Given the description of an element on the screen output the (x, y) to click on. 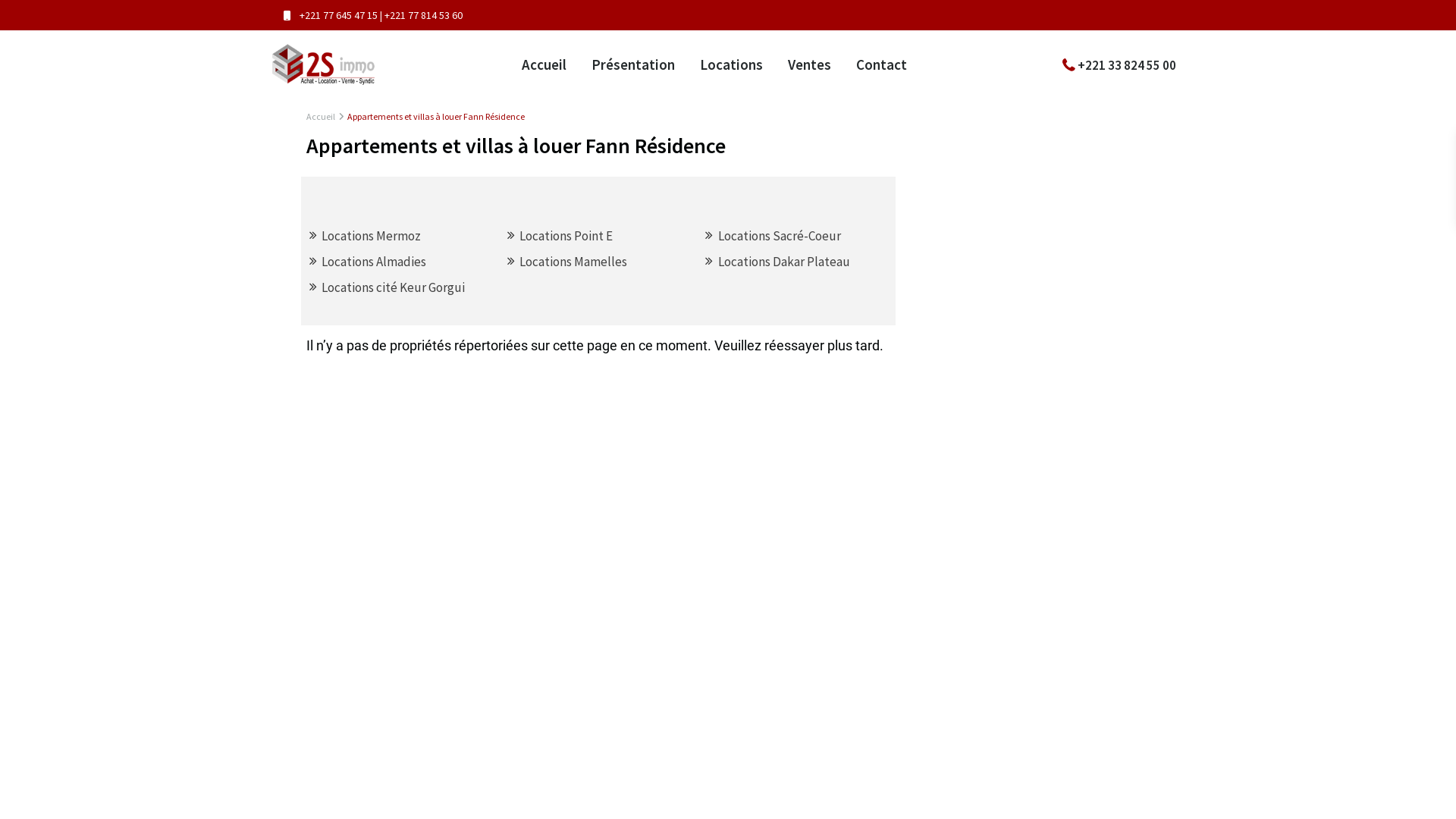
Locations Point E Element type: text (565, 235)
Accueil Element type: text (543, 64)
Ventes Element type: text (809, 64)
Contact Element type: text (881, 64)
Locations Mamelles Element type: text (573, 261)
+221 77 814 53 60 Element type: text (423, 15)
+221 33 824 55 00 Element type: text (1126, 64)
Locations Almadies Element type: text (373, 261)
+221 77 645 47 15 Element type: text (339, 15)
Accueil Element type: text (320, 116)
Locations Mermoz Element type: text (370, 235)
Locations Dakar Plateau Element type: text (784, 261)
Locations Element type: text (731, 64)
